Given the description of an element on the screen output the (x, y) to click on. 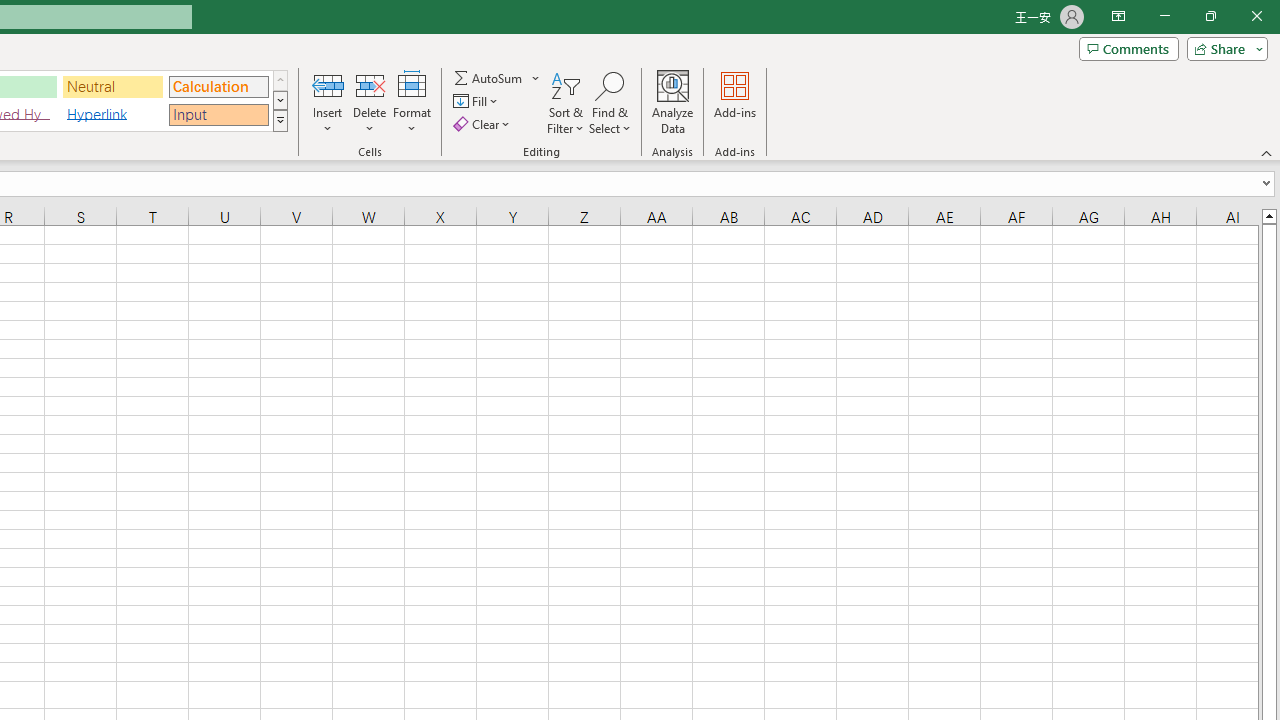
Sum (489, 78)
Delete (369, 102)
Neutral (113, 86)
Format (411, 102)
